Given the description of an element on the screen output the (x, y) to click on. 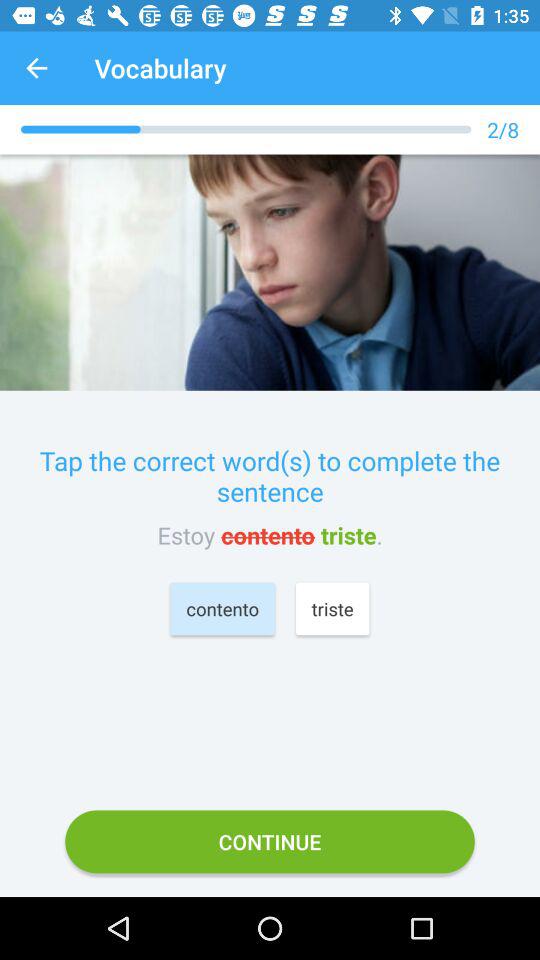
tap app to the left of the vocabulary item (36, 68)
